Given the description of an element on the screen output the (x, y) to click on. 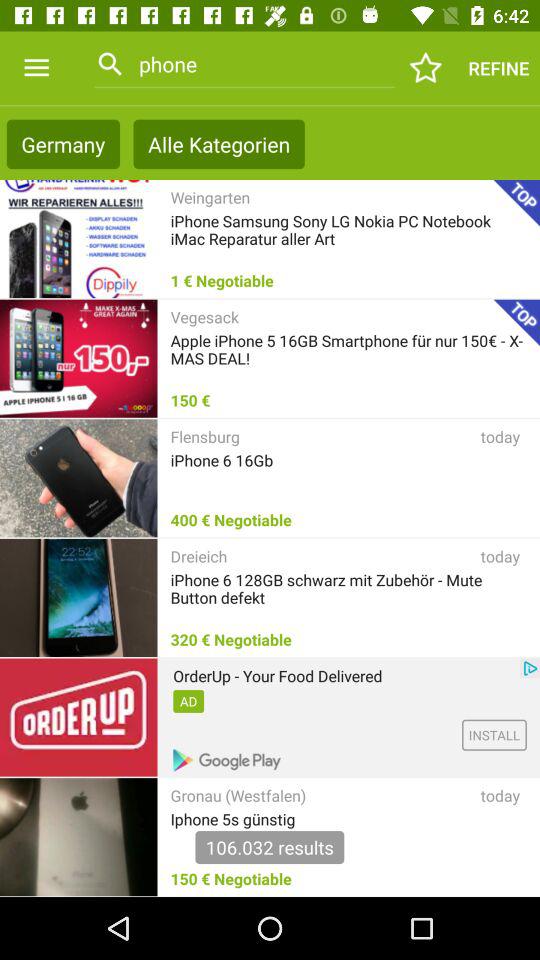
swipe to the install (493, 734)
